Given the description of an element on the screen output the (x, y) to click on. 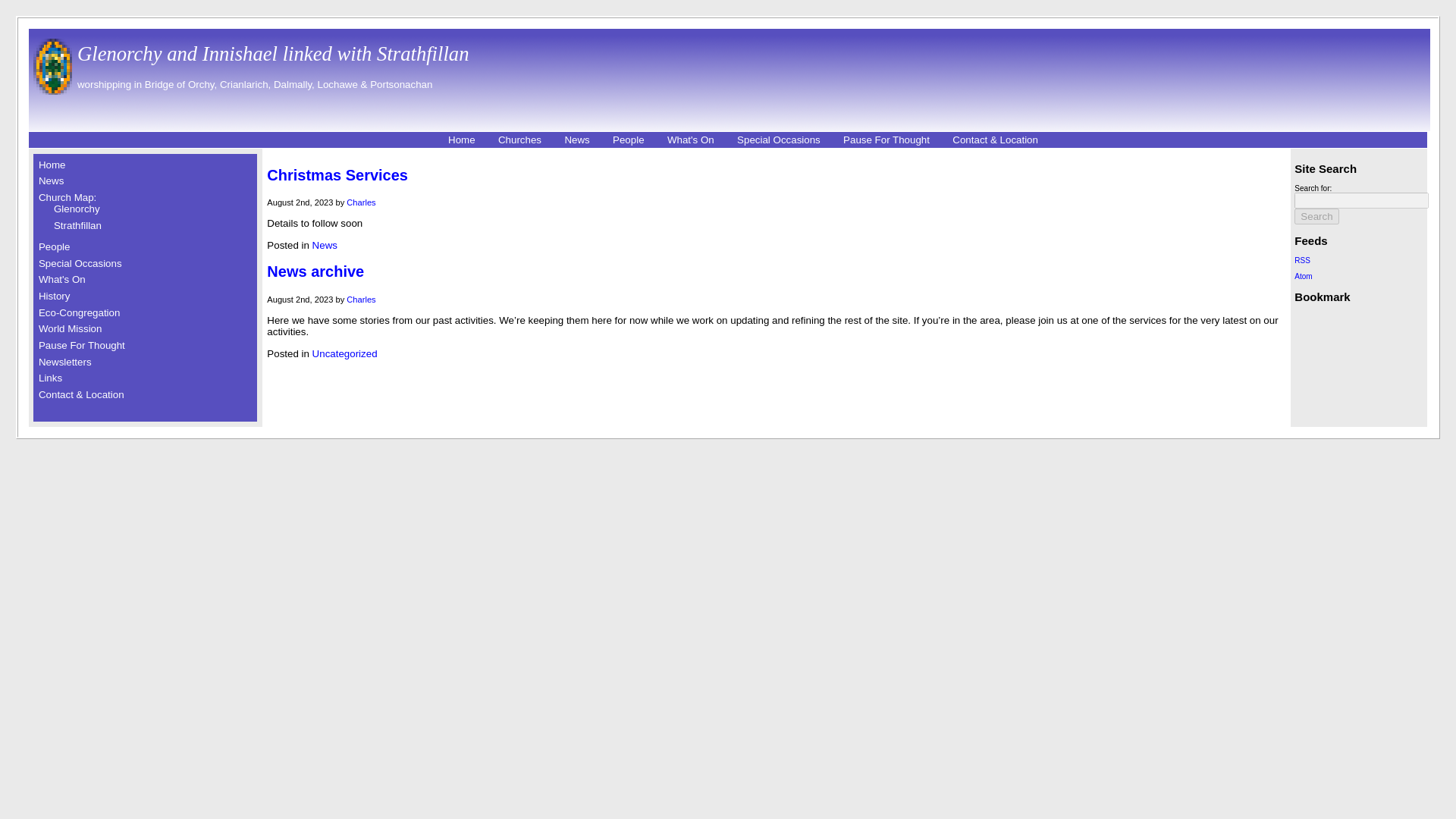
Links (50, 378)
What's On (690, 139)
Christmas Services (336, 175)
Search (1316, 216)
People (628, 139)
Special Occasions (80, 263)
Atom (1302, 275)
Special Occasions (778, 139)
History (54, 296)
Churches (519, 139)
World Mission (70, 328)
Glenorchy (76, 208)
Church Map (66, 197)
Newsletters (65, 361)
News archive (315, 271)
